Given the description of an element on the screen output the (x, y) to click on. 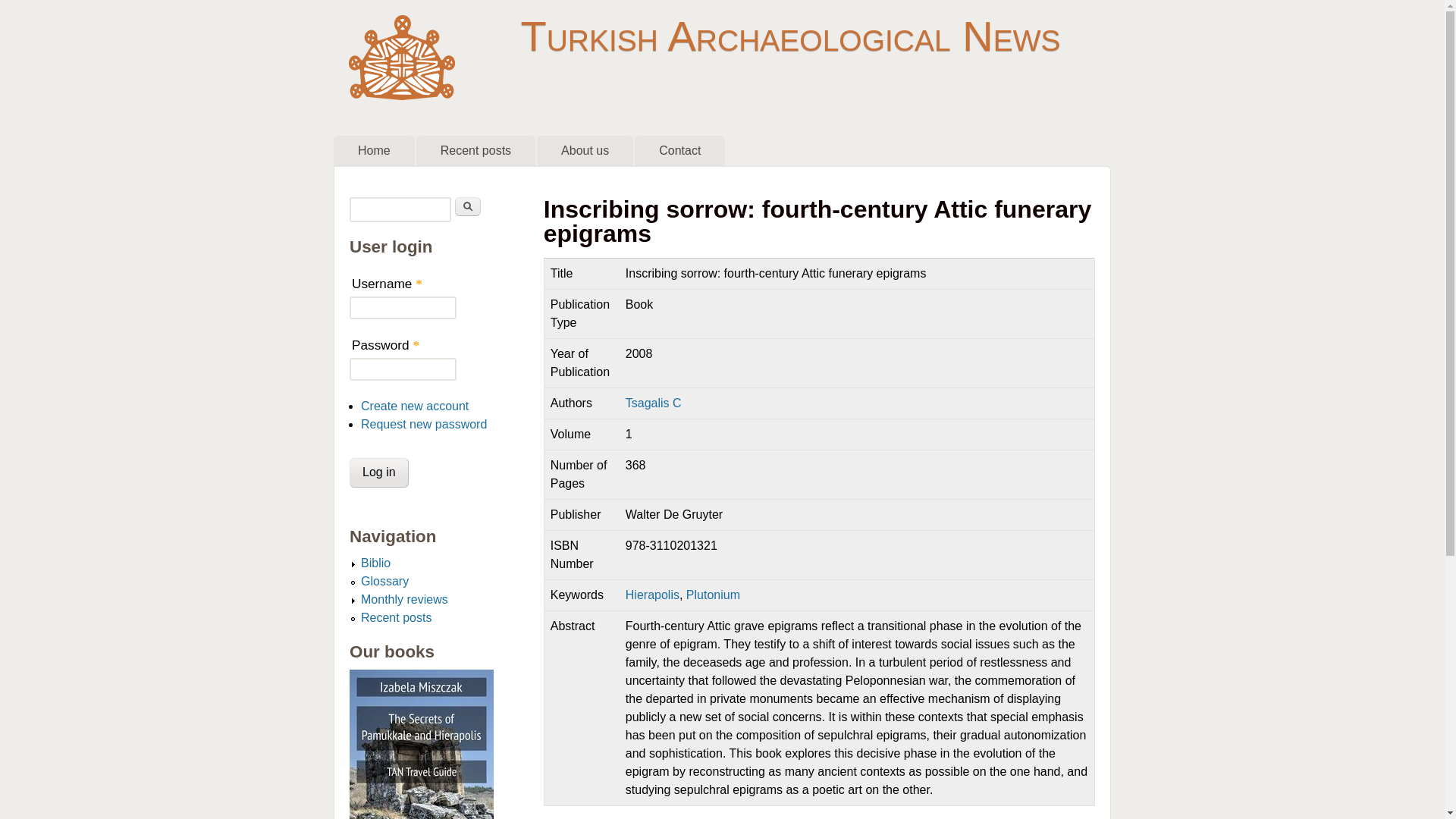
Enter the terms you wish to search for. (400, 209)
Hierapolis (652, 594)
Home page (789, 35)
Turkish Archaeological News (789, 35)
Biblio (375, 562)
Monthly reviews (404, 599)
google scholar (587, 817)
Contact (679, 150)
Search (467, 206)
Click to search Google Scholar for this entry (587, 817)
Tsagalis C (653, 402)
Recent posts (395, 617)
Request new password (423, 423)
Glossary (385, 581)
